Given the description of an element on the screen output the (x, y) to click on. 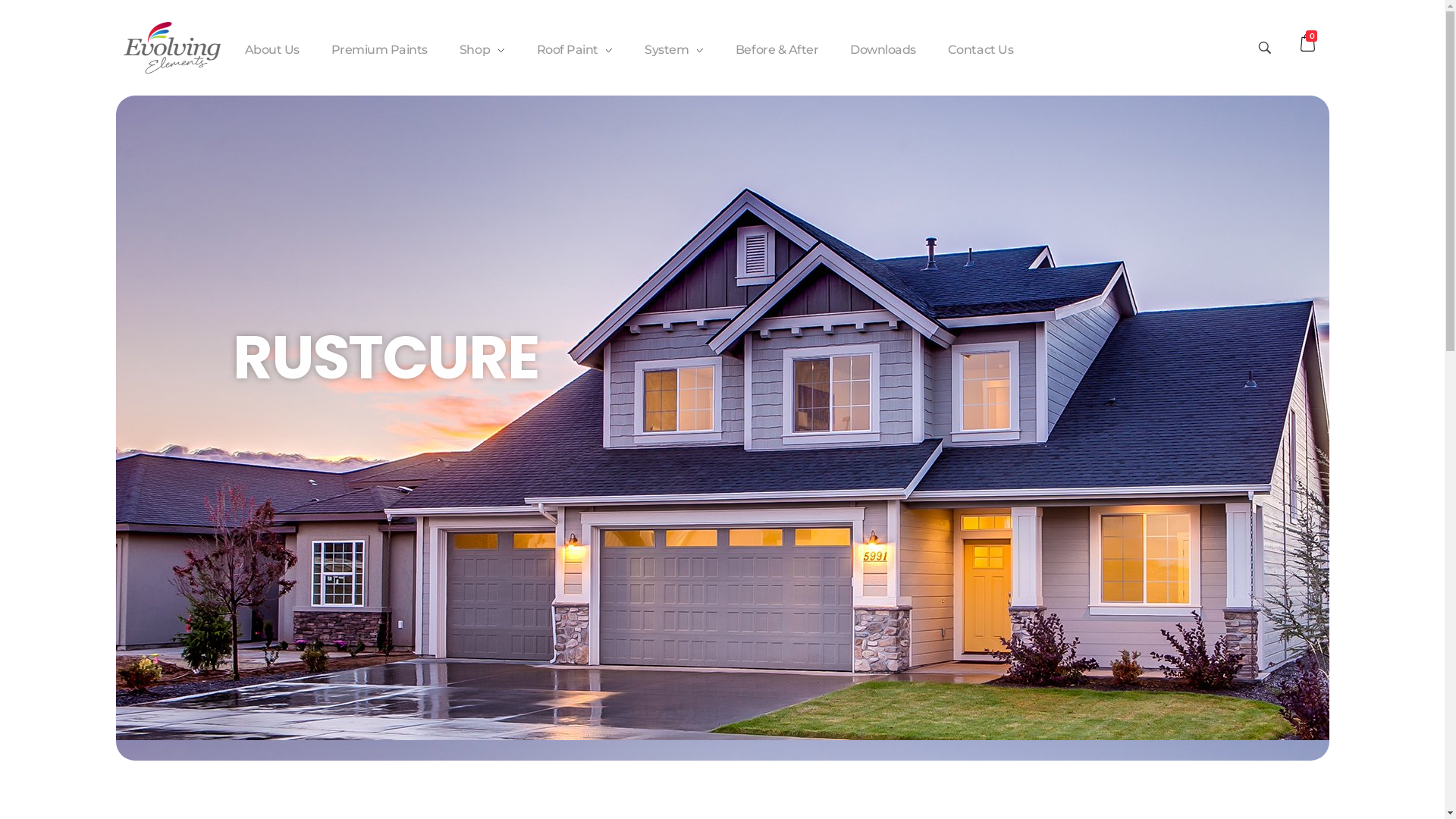
System Element type: text (673, 49)
About Us Element type: text (279, 49)
Roof Paint Element type: text (574, 49)
Downloads Element type: text (882, 49)
Before & After Element type: text (776, 49)
Contact Us Element type: text (972, 49)
Premium Paints Element type: text (379, 49)
Shop Element type: text (481, 49)
0 Element type: text (1308, 42)
